Given the description of an element on the screen output the (x, y) to click on. 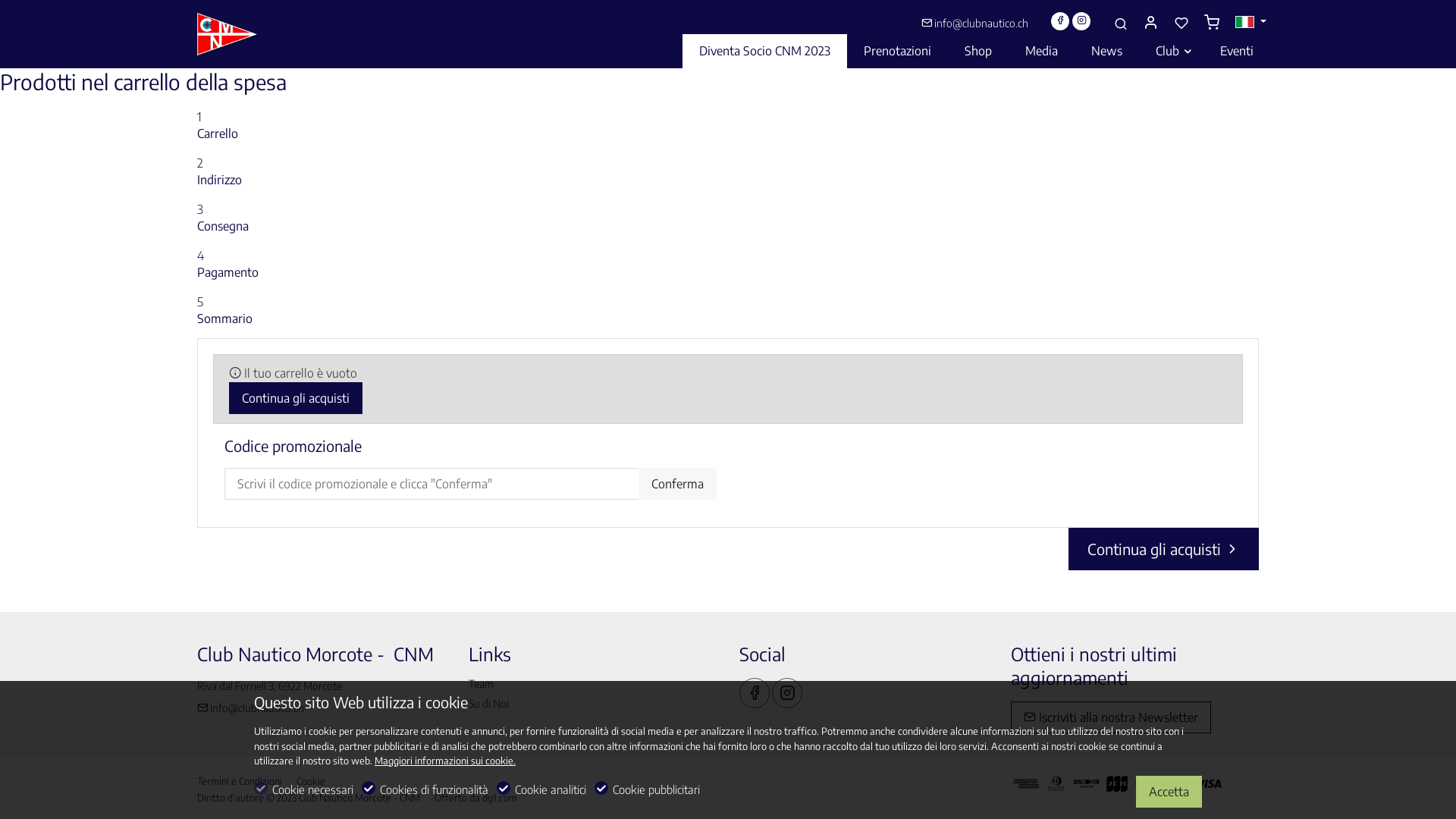
Iscriviti alla nostra Newsletter Element type: text (1110, 717)
Diventa Socio CNM 2023 Element type: text (764, 51)
it Element type: hover (1244, 21)
Su di Noi Element type: text (488, 702)
Shop Element type: text (977, 51)
Media Element type: text (1041, 51)
Accetta Element type: text (1168, 791)
dg1.com Element type: text (502, 799)
Club Nautico Morcote -  CNM Element type: hover (261, 32)
Team Element type: text (480, 683)
info@clubnautico.ch Element type: text (250, 707)
Instagram Element type: hover (1081, 21)
Prenotazioni Element type: text (897, 51)
Maggiori informazioni sui cookie. Element type: text (444, 760)
Club Element type: text (1171, 51)
News Element type: text (1106, 51)
Continua gli acquisti Element type: text (1163, 548)
Cookie Element type: text (310, 783)
info@clubnautico.ch Element type: text (980, 22)
Facebook Element type: hover (1060, 21)
Continua gli acquisti Element type: text (295, 398)
Instagram Element type: hover (786, 692)
Conferma Element type: text (677, 483)
Termini e Condizioni Element type: text (242, 783)
Facebook Element type: hover (754, 692)
Eventi Element type: text (1236, 51)
1
Carrello Element type: text (727, 125)
